Given the description of an element on the screen output the (x, y) to click on. 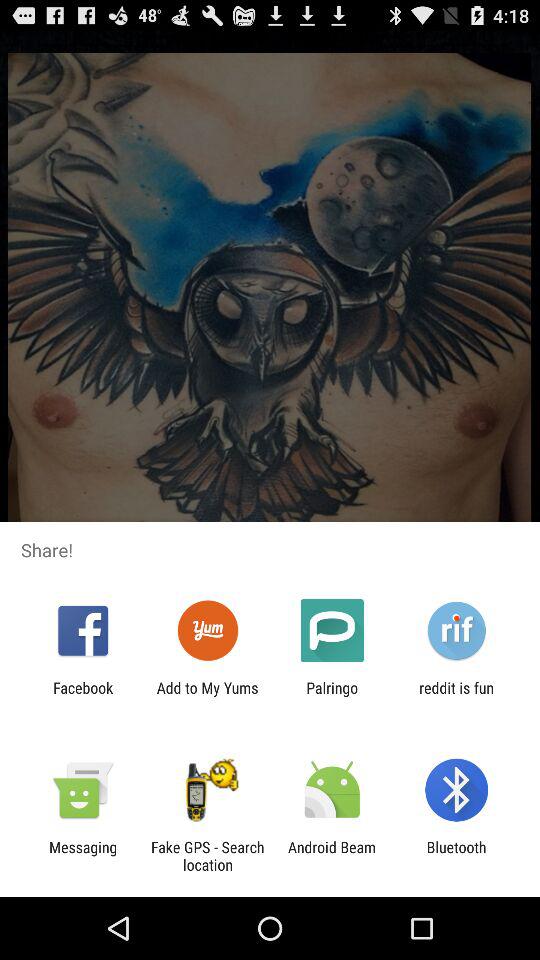
turn on the app to the right of add to my icon (332, 696)
